Given the description of an element on the screen output the (x, y) to click on. 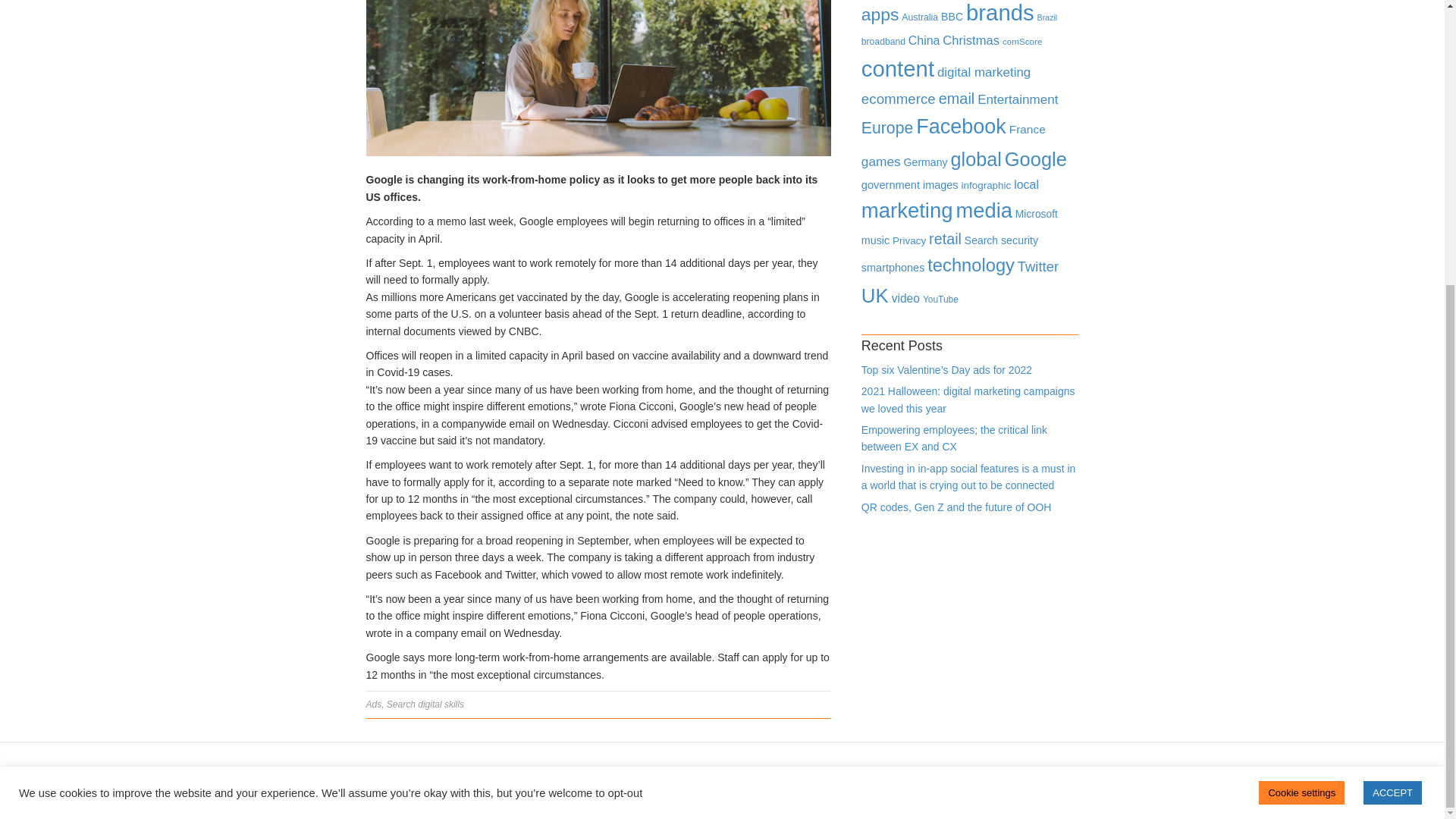
Brazil (1047, 17)
China (924, 40)
comScore (1022, 40)
Ads (373, 704)
BBC (951, 16)
brands (999, 12)
Search (400, 704)
Australia (919, 17)
broadband (883, 41)
Christmas (970, 40)
